Given the description of an element on the screen output the (x, y) to click on. 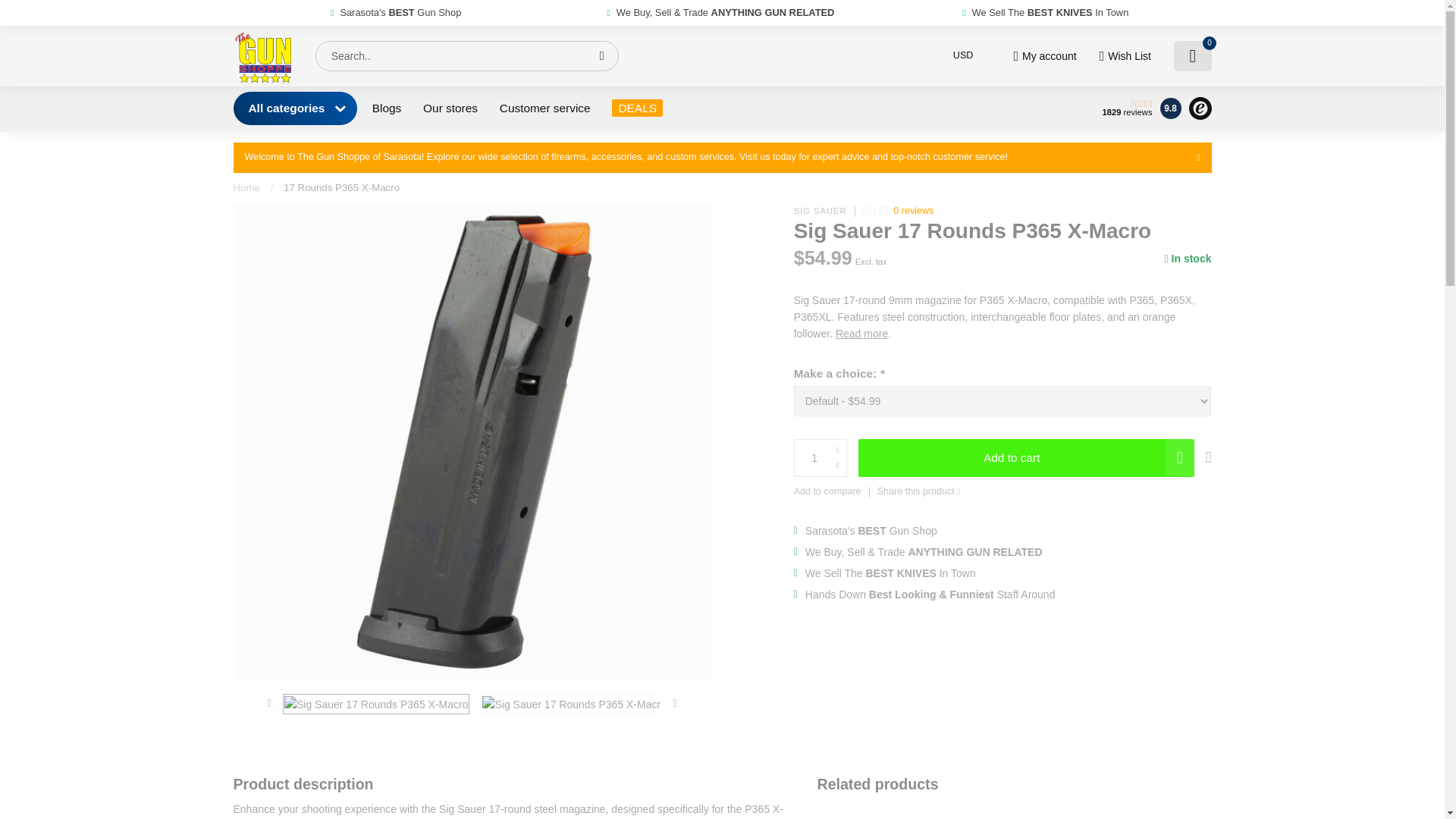
Blogs Our stores Customer service DEALS (721, 107)
1 (820, 457)
Home (246, 187)
Wish List (1124, 55)
My account (1044, 55)
Wish List (1124, 55)
0 (1192, 55)
